Given the description of an element on the screen output the (x, y) to click on. 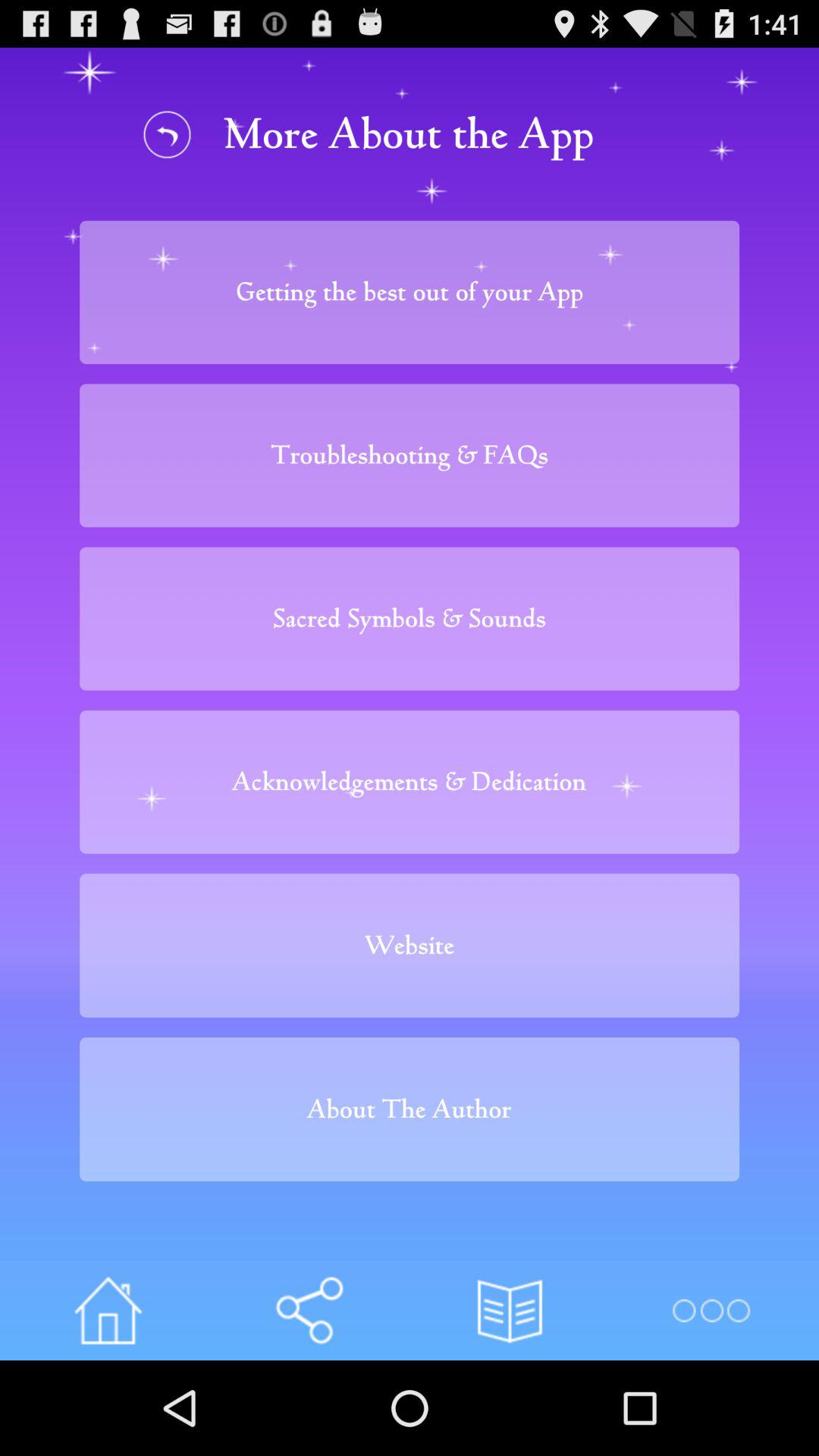
view links (308, 1310)
